Given the description of an element on the screen output the (x, y) to click on. 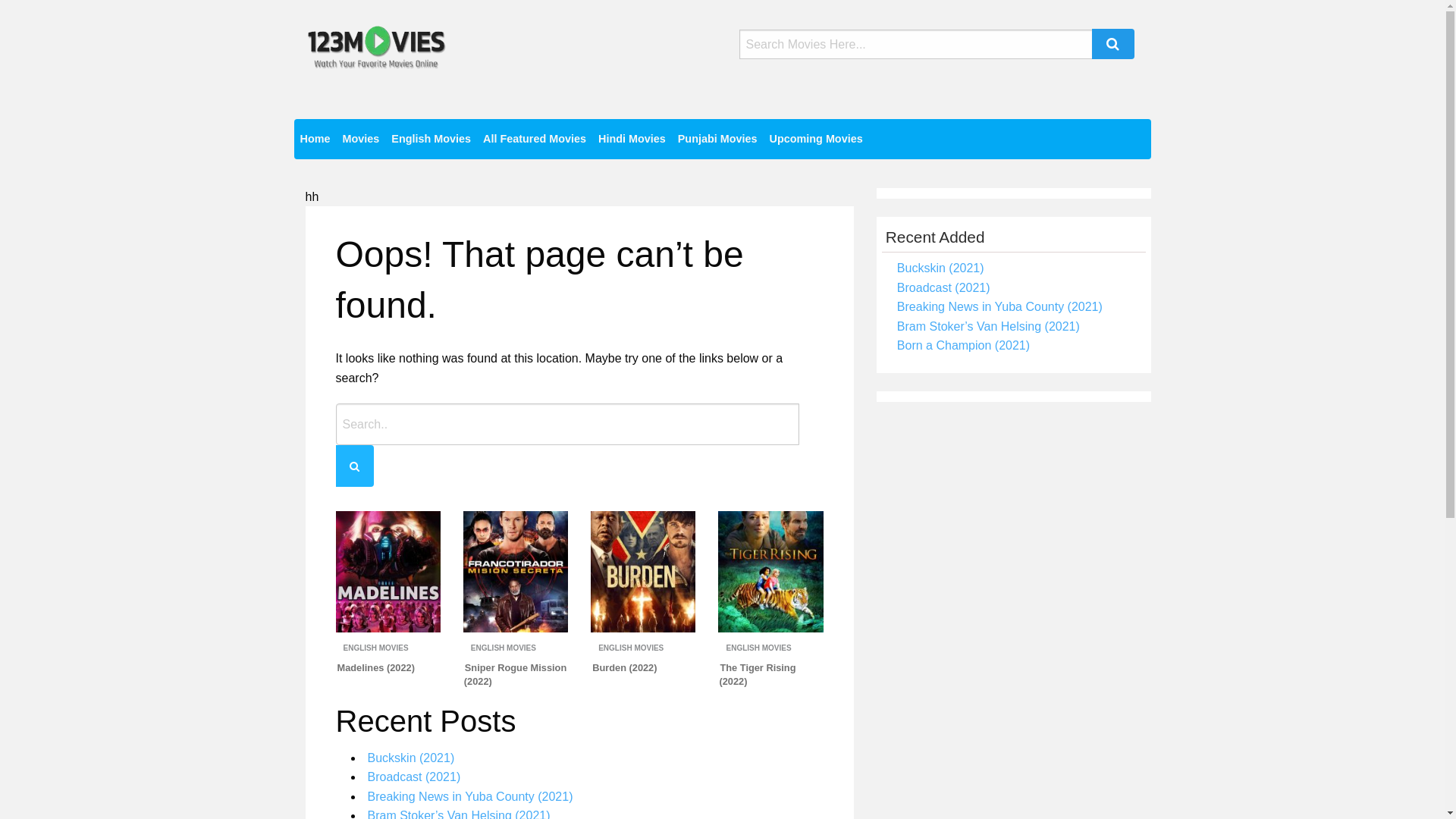
ENGLISH MOVIES Element type: text (374, 647)
Movies Element type: text (360, 139)
ENGLISH MOVIES Element type: text (503, 647)
Search Element type: text (1113, 43)
Buckskin (2021) Element type: text (940, 267)
Breaking News in Yuba County (2021) Element type: text (469, 796)
Hindi Movies Element type: text (631, 139)
Punjabi Movies Element type: text (717, 139)
ENGLISH MOVIES Element type: text (630, 647)
Upcoming Movies Element type: text (816, 139)
English Movies Element type: text (430, 139)
Broadcast (2021) Element type: text (413, 776)
Born a Champion (2021) Element type: text (963, 344)
Broadcast (2021) Element type: text (943, 287)
ENGLISH MOVIES Element type: text (757, 647)
Buckskin (2021) Element type: text (410, 757)
All Featured Movies Element type: text (534, 139)
Home Element type: text (315, 139)
The Tiger Rising (2022) Element type: text (756, 674)
Sniper Rogue Mission (2022) Element type: text (515, 674)
Breaking News in Yuba County (2021) Element type: text (999, 306)
Burden (2022) Element type: text (624, 667)
Madelines (2022) Element type: text (375, 667)
